Given the description of an element on the screen output the (x, y) to click on. 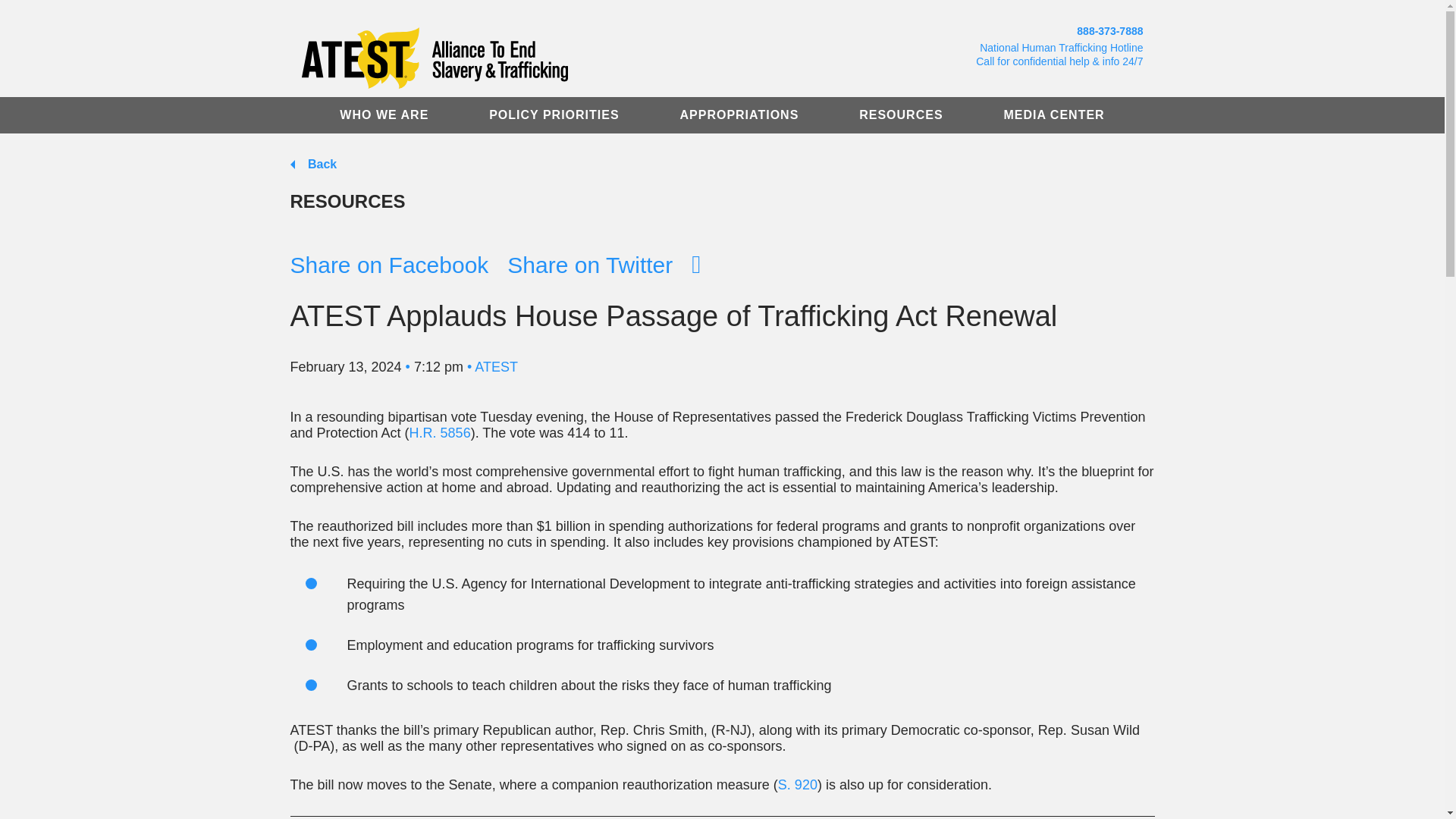
Share on Facebook (388, 265)
RESOURCES (900, 115)
POLICY PRIORITIES (553, 115)
Back (312, 164)
MEDIA CENTER (1053, 115)
ATEST (496, 366)
Share on Twitter (589, 265)
APPROPRIATIONS (738, 115)
H.R. 5856 (439, 432)
S. 920 (796, 784)
